Given the description of an element on the screen output the (x, y) to click on. 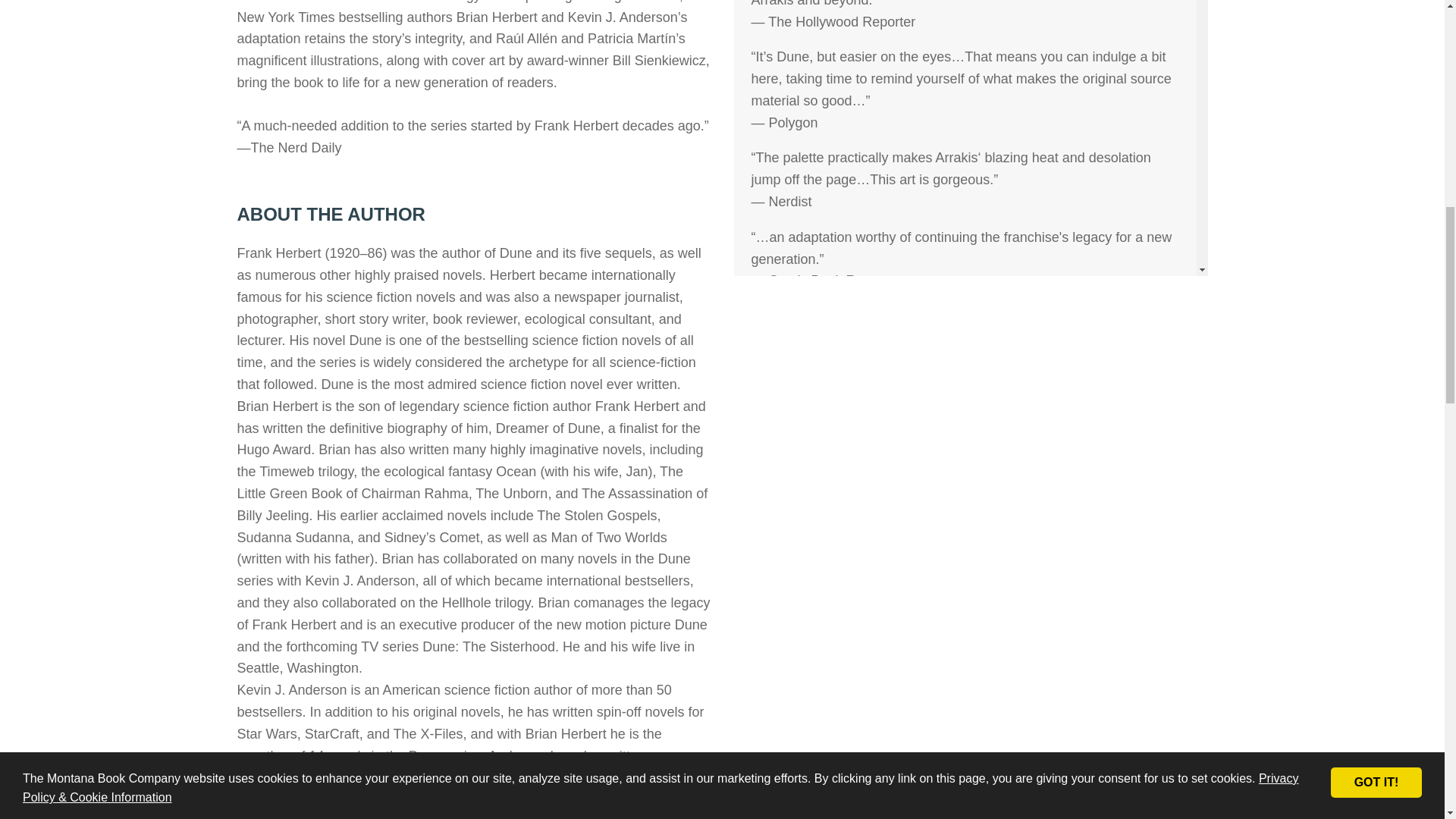
GOT IT! (1376, 55)
